Given the description of an element on the screen output the (x, y) to click on. 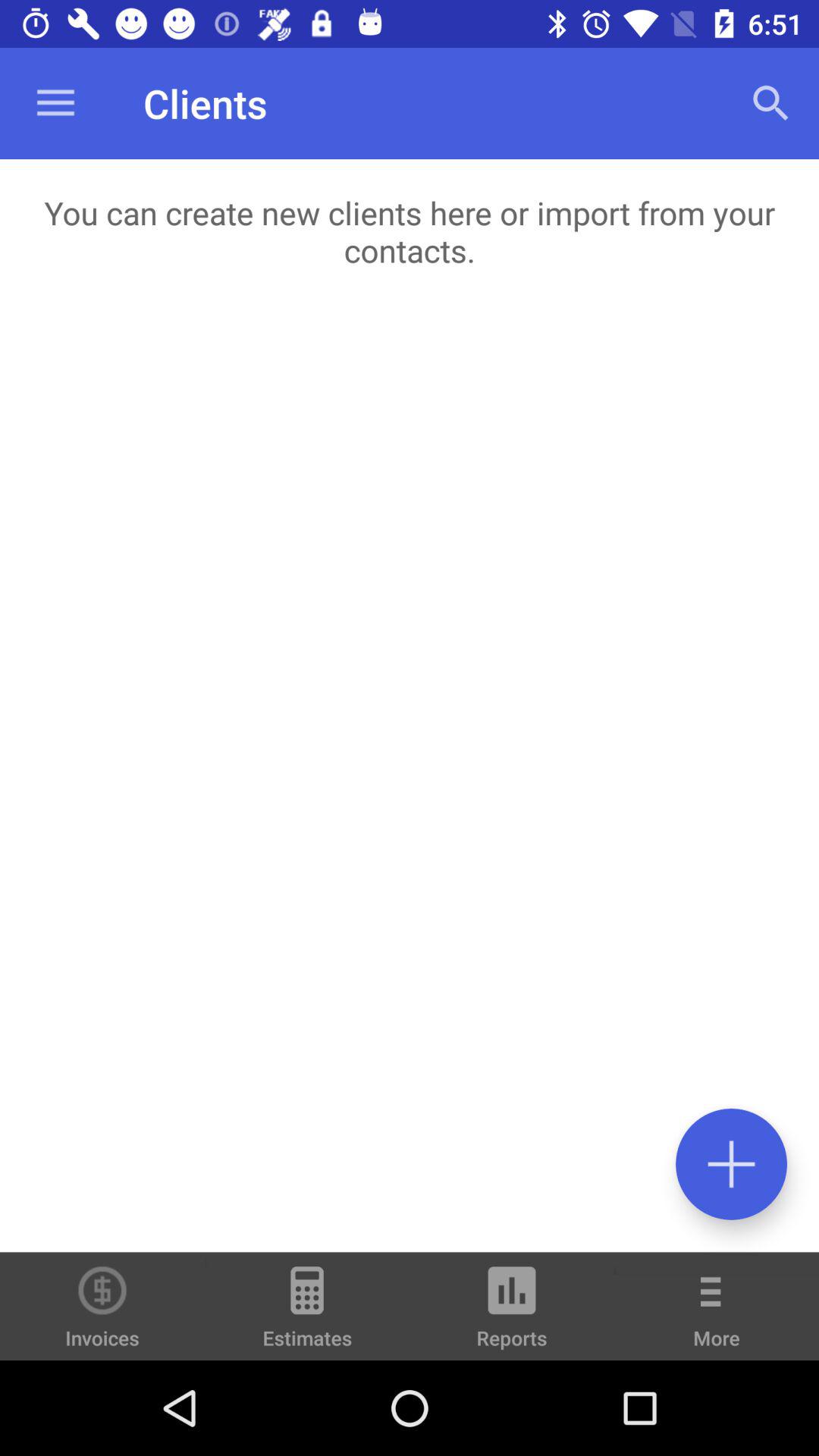
turn off icon next to the clients icon (771, 103)
